Given the description of an element on the screen output the (x, y) to click on. 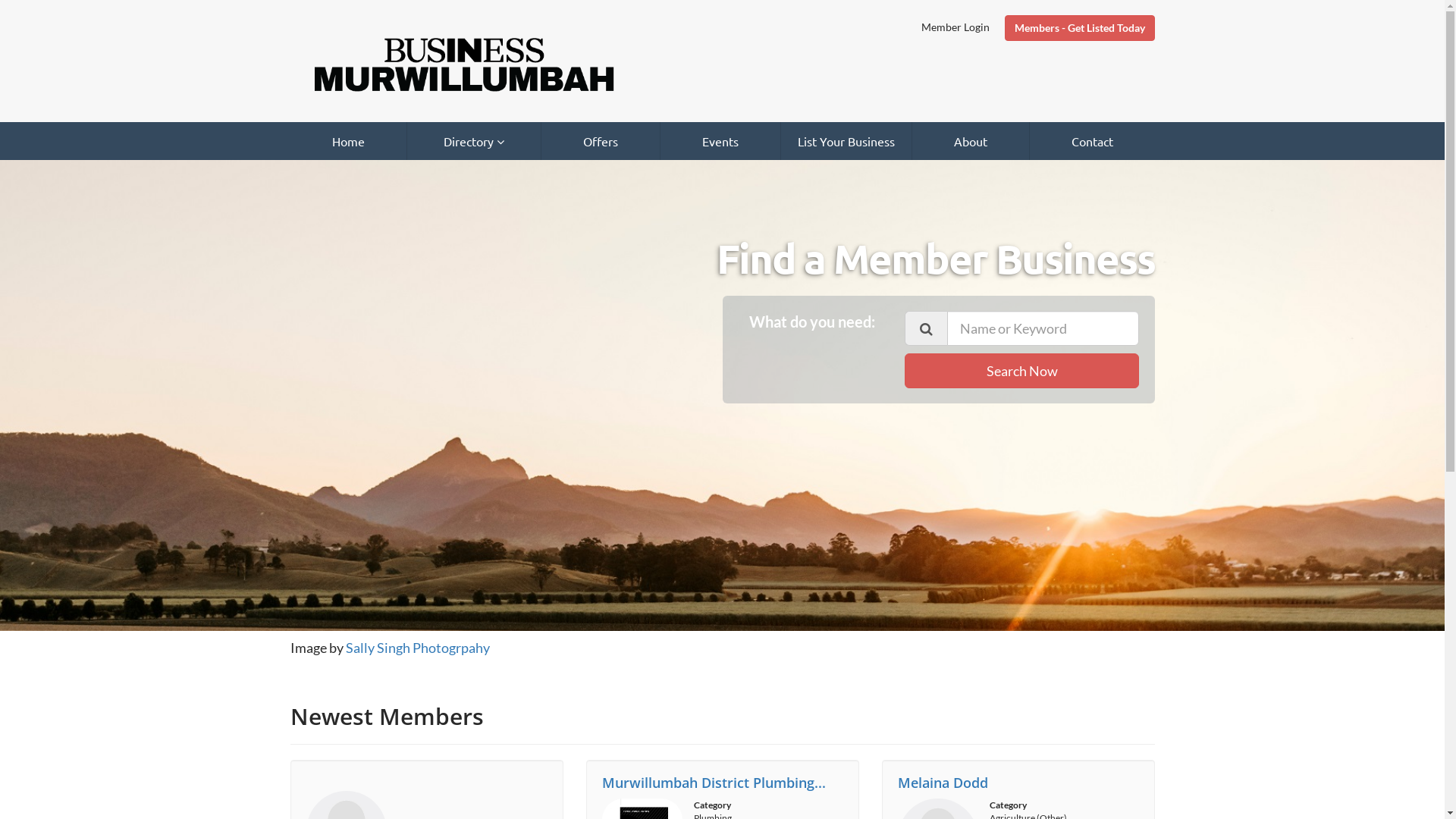
Search Now Element type: text (1021, 370)
List Your Business Element type: text (846, 141)
Home Element type: text (347, 141)
Events Element type: text (719, 141)
Members - Get Listed Today Element type: text (1079, 27)
Sally Singh Photogrpahy Element type: text (417, 647)
Murwillumbah District Plumbing... Element type: text (713, 782)
Melaina Dodd Element type: text (942, 782)
Directory Element type: text (472, 141)
Member Login Element type: text (958, 26)
Business Murwillumbah Element type: hover (463, 62)
About Element type: text (969, 141)
Contact Element type: text (1091, 141)
